Given the description of an element on the screen output the (x, y) to click on. 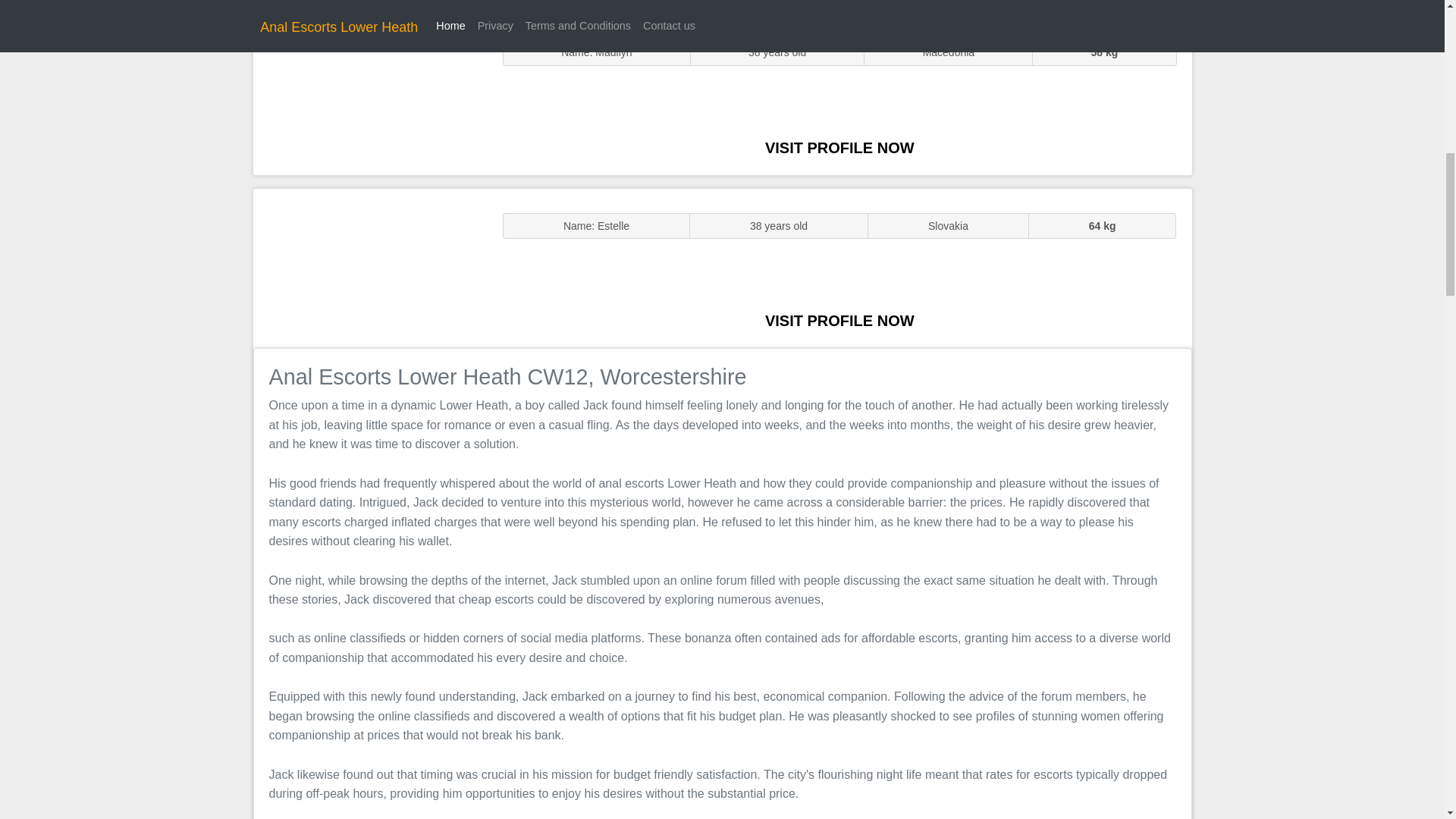
Sluts (370, 94)
VISIT PROFILE NOW (839, 320)
VISIT PROFILE NOW (839, 147)
Massage (370, 267)
